Given the description of an element on the screen output the (x, y) to click on. 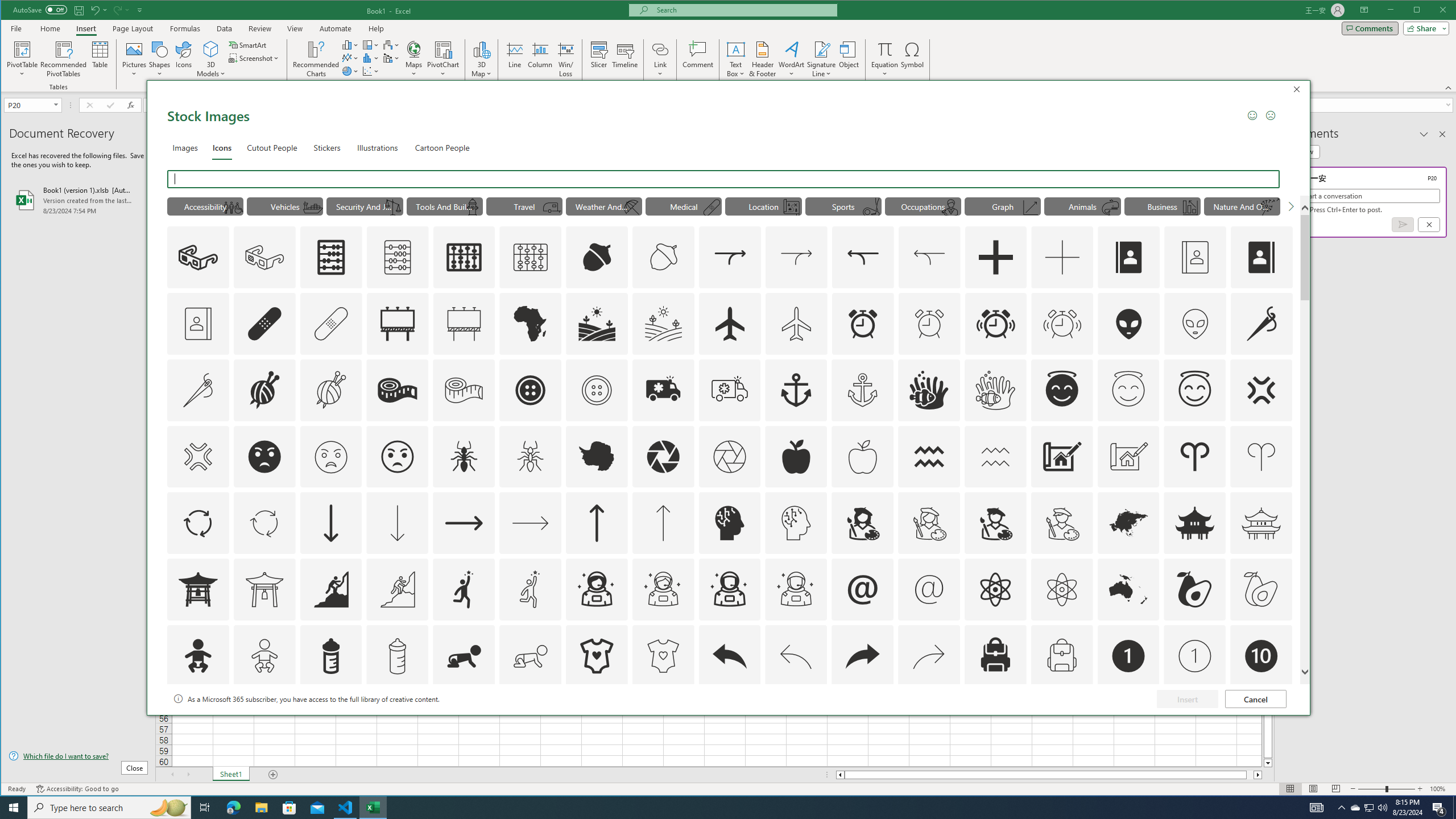
AutomationID: Icons_ArtistFemale_M (928, 522)
Send a Frown (1269, 115)
AutomationID: Icons_Agriculture_M (663, 323)
AutomationID: Icons_Aspiration1 (464, 589)
